Given the description of an element on the screen output the (x, y) to click on. 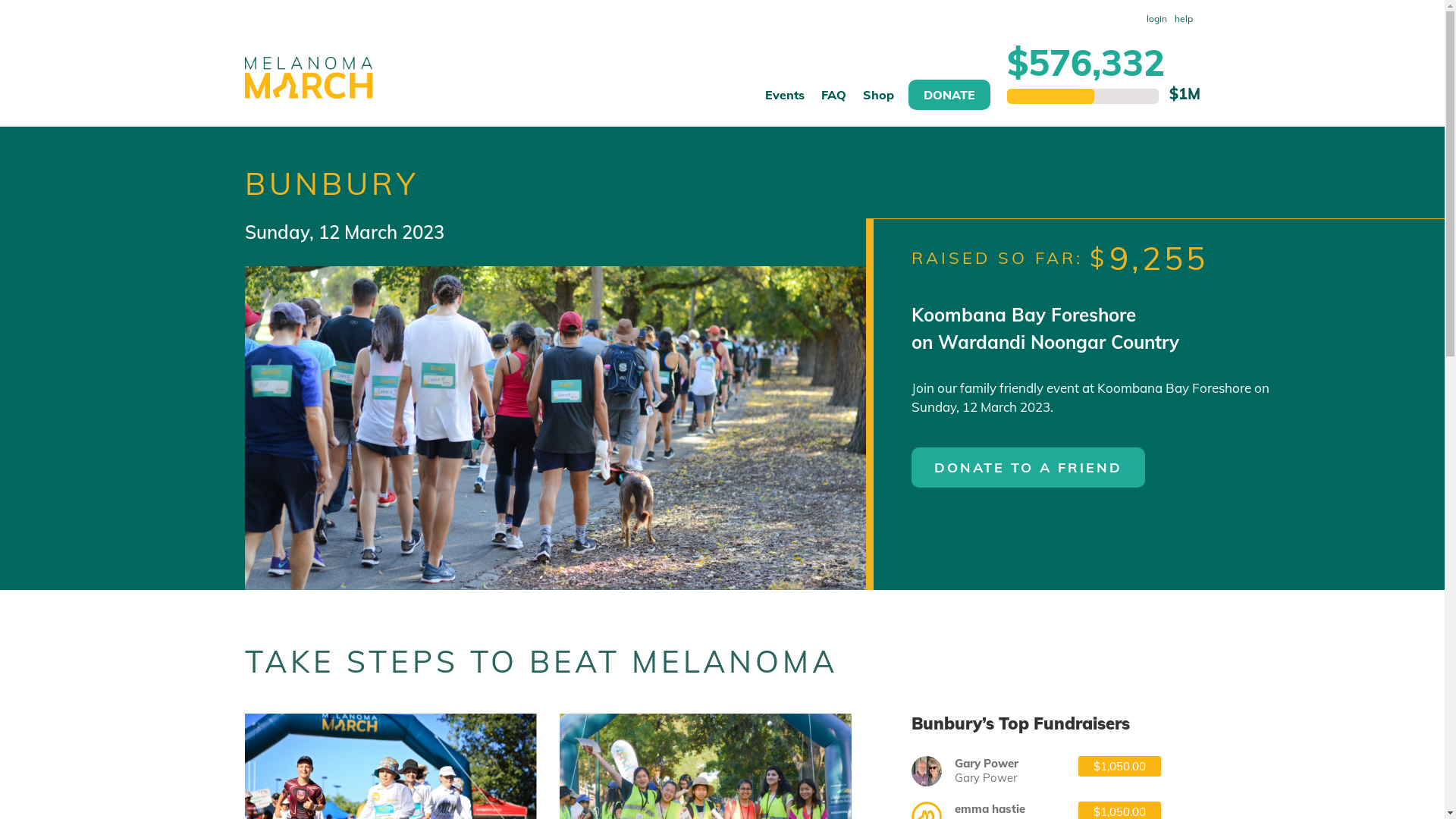
Events Element type: text (784, 101)
login Element type: text (1156, 18)
$576,332 Element type: text (1085, 62)
Shop Element type: text (878, 101)
Gary Power Element type: hover (926, 771)
DONATE TO A FRIEND Element type: text (1028, 467)
FAQ Element type: text (833, 101)
help Element type: text (1183, 18)
9,255 Element type: text (1157, 258)
DONATE Element type: text (949, 94)
